Given the description of an element on the screen output the (x, y) to click on. 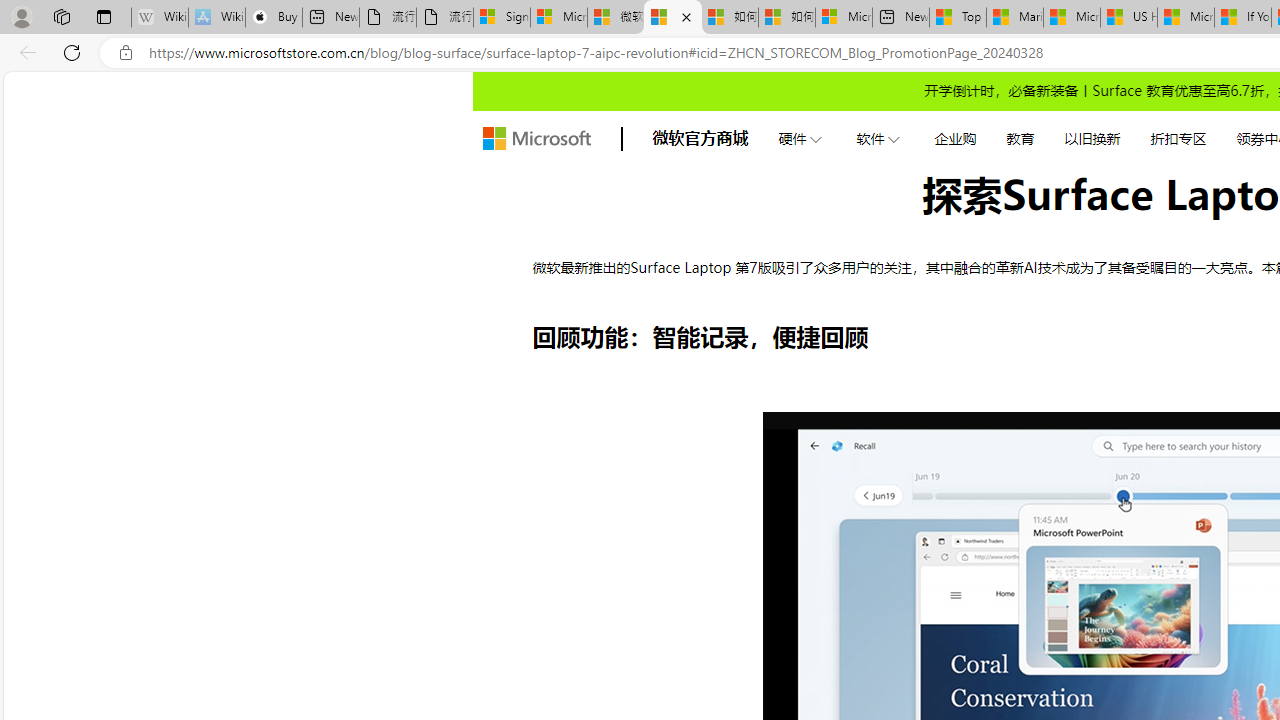
Sign in to your Microsoft account (501, 17)
Marine life - MSN (1014, 17)
Microsoft (536, 138)
Microsoft account | Account Checkup (843, 17)
US Heat Deaths Soared To Record High Last Year (1128, 17)
Buy iPad - Apple (273, 17)
Top Stories - MSN (957, 17)
